Given the description of an element on the screen output the (x, y) to click on. 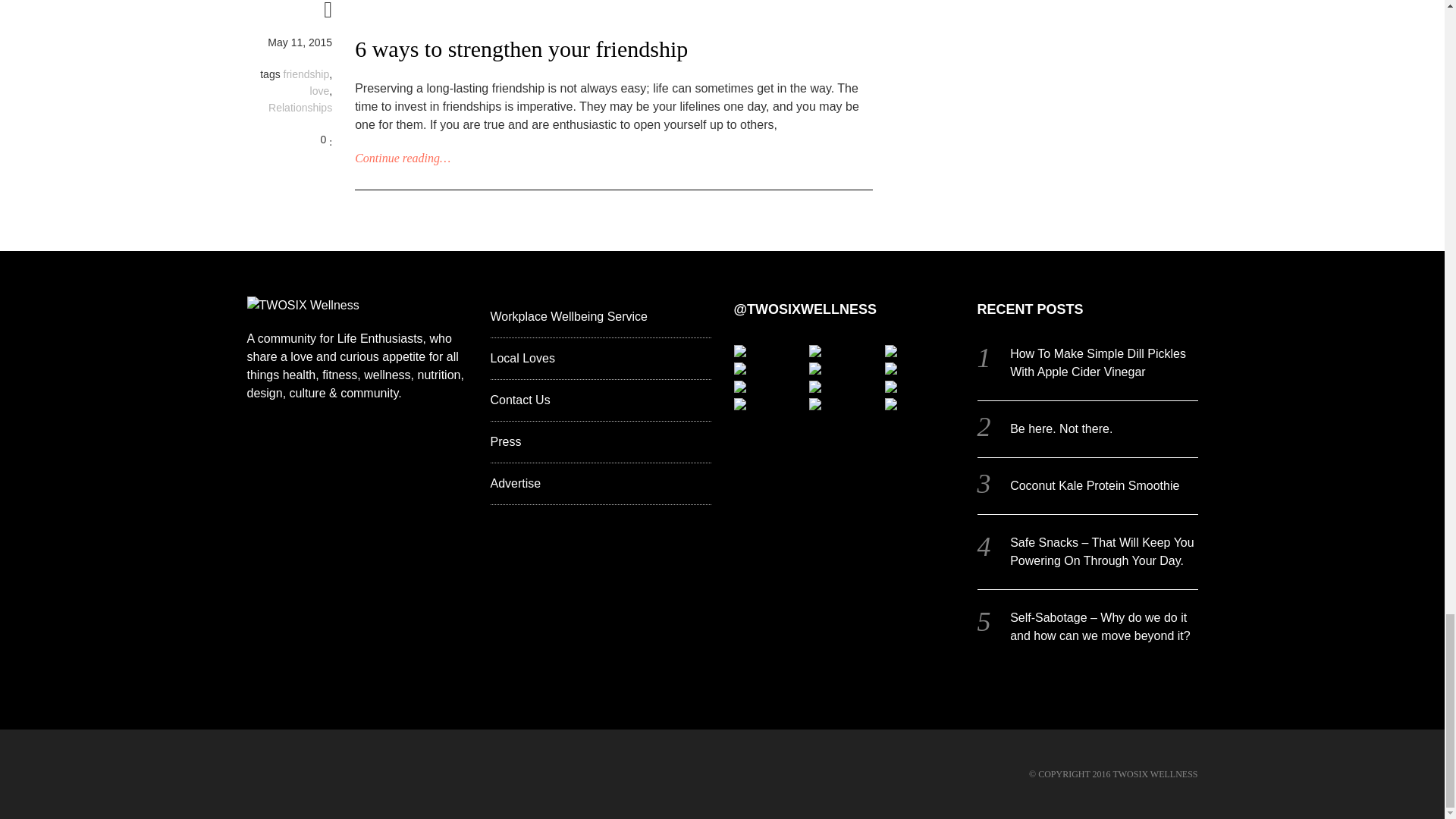
Now this is something to live by Were going tohellip (815, 368)
Start your morning with a smile some stretches and 3hellip (889, 368)
Always mix business with pleasure food hellip (739, 350)
internationalwomensday girlpower whorunstheworld (815, 350)
